Given the description of an element on the screen output the (x, y) to click on. 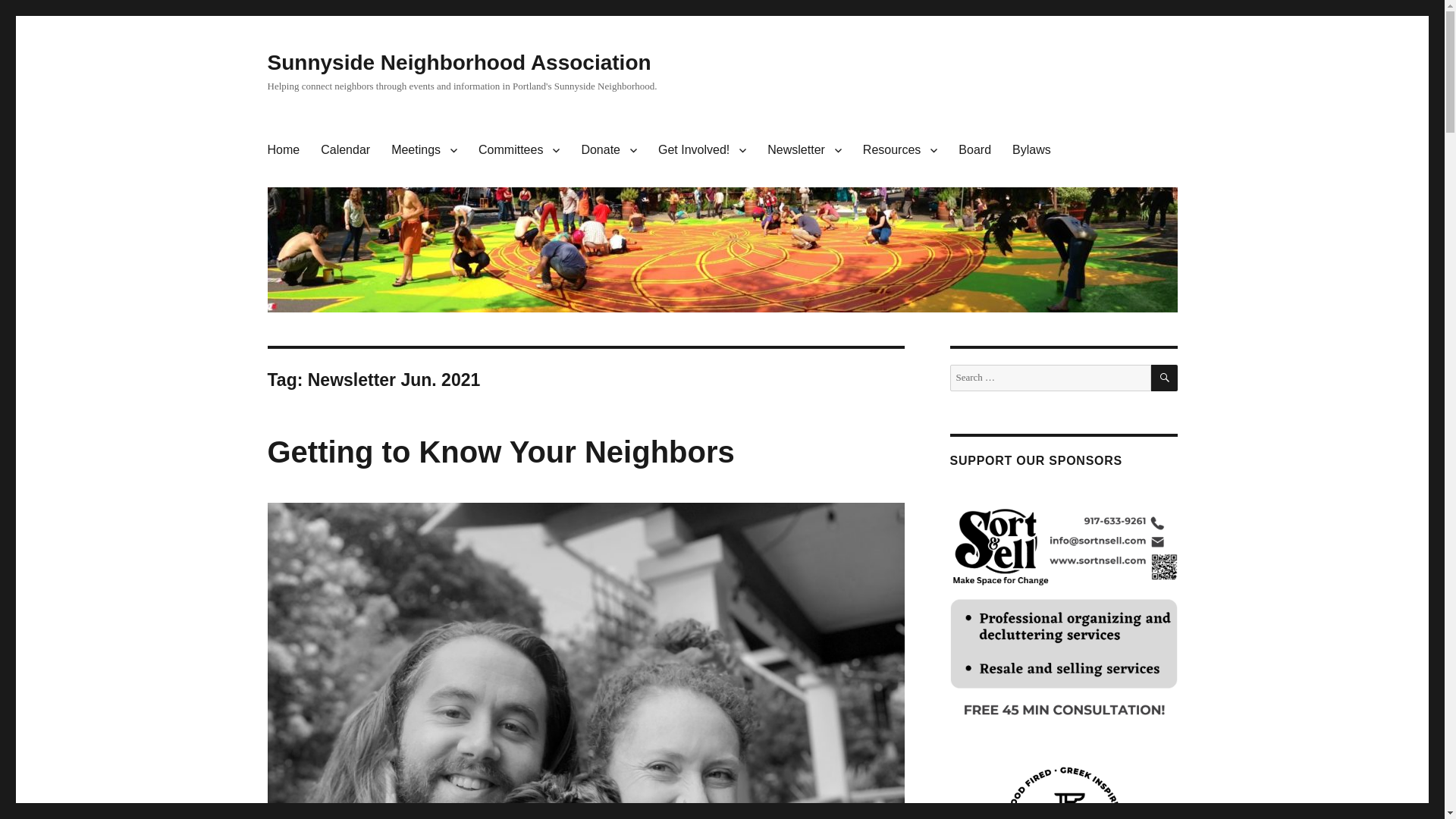
Committees (518, 150)
Newsletter (804, 150)
Resources (899, 150)
Meetings (423, 150)
Home (283, 150)
Donate (608, 150)
Calendar (345, 150)
Get Involved! (702, 150)
Sunnyside Neighborhood Association (458, 62)
